Given the description of an element on the screen output the (x, y) to click on. 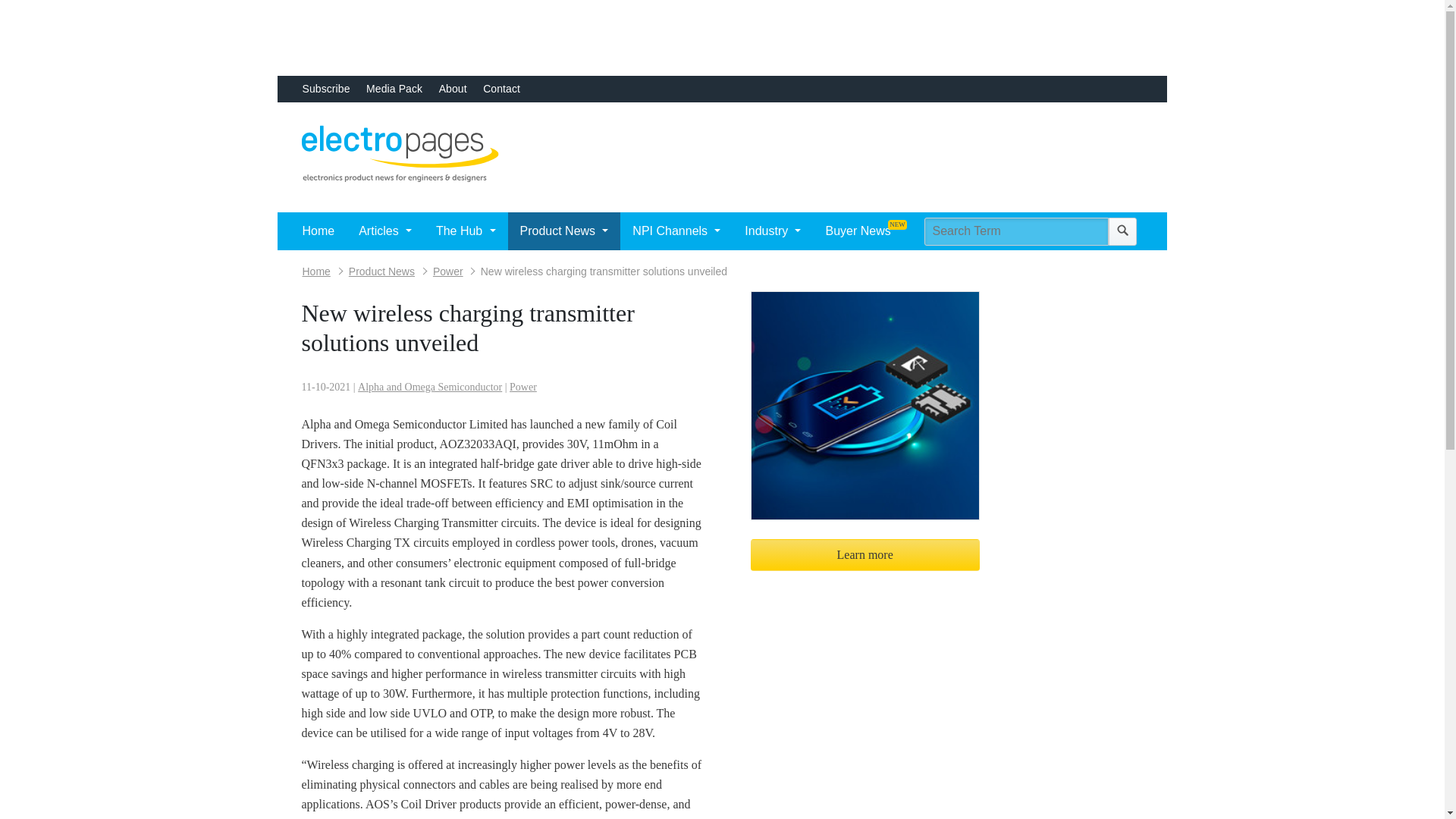
Articles (384, 231)
Contact (501, 88)
Media Pack (394, 88)
About (453, 88)
Subscribe (325, 88)
The Hub (465, 231)
Home (317, 231)
Product News (564, 231)
